Given the description of an element on the screen output the (x, y) to click on. 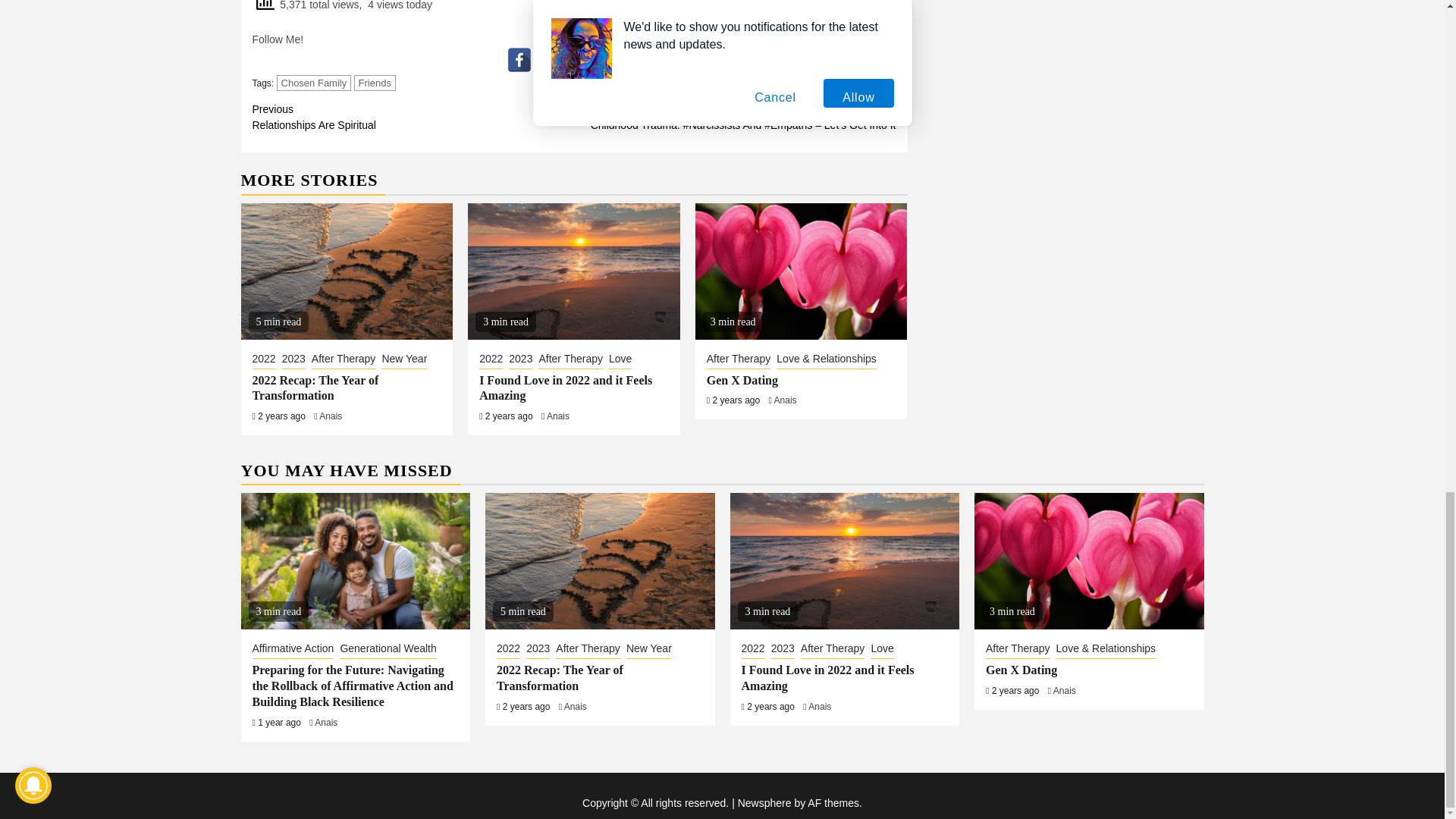
After Therapy (343, 360)
Love (619, 360)
2023 (293, 360)
I Found Love in 2022 and it Feels Amazing (412, 117)
After Therapy (565, 387)
Instagram (570, 360)
Twitter (574, 59)
Anais (546, 59)
Facebook (558, 416)
YouTube (518, 59)
2022 Recap: The Year of Transformation (600, 59)
Friends (314, 387)
Chosen Family (374, 82)
2022 (314, 82)
